Given the description of an element on the screen output the (x, y) to click on. 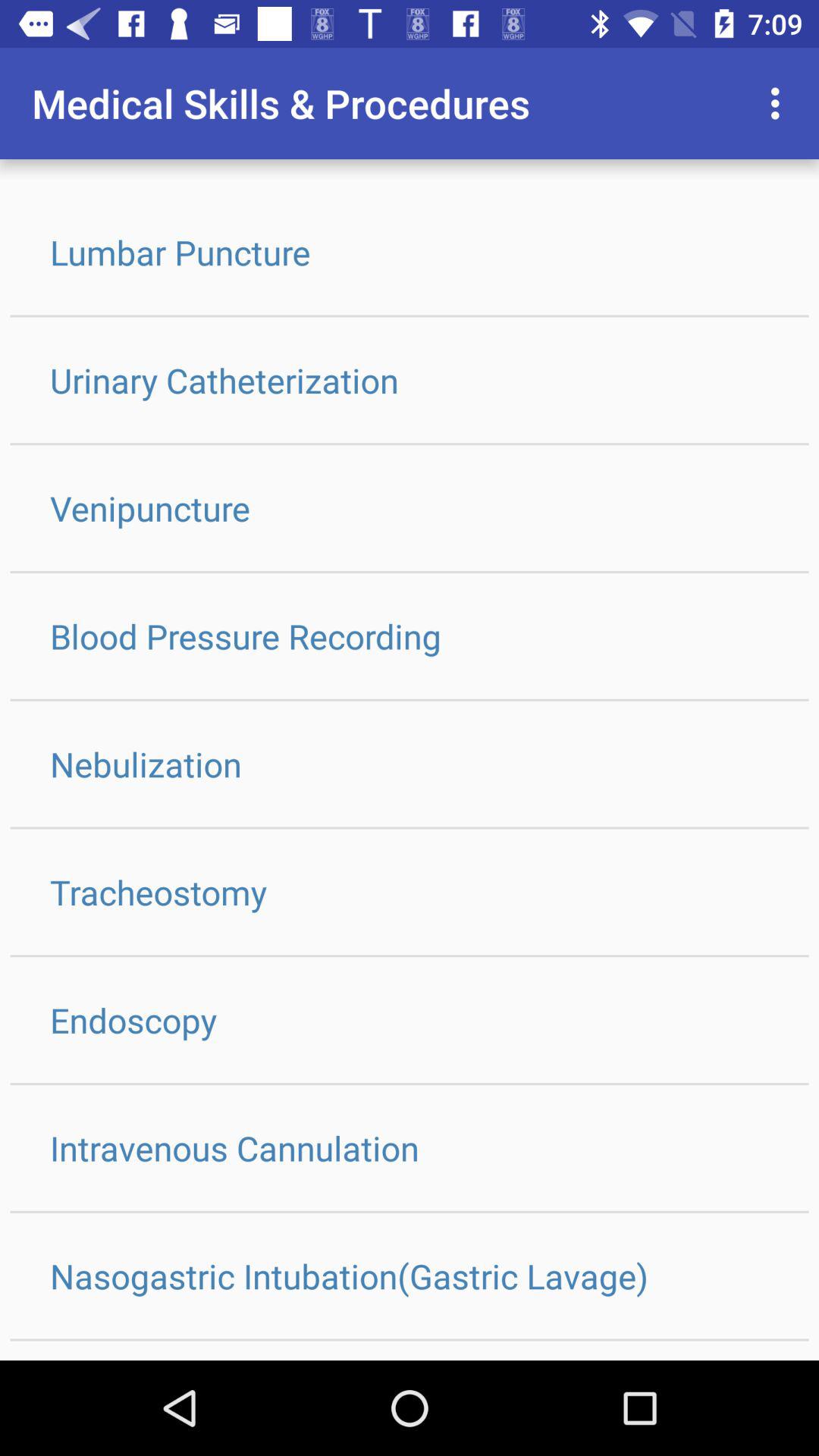
open app next to medical skills & procedures item (779, 103)
